Given the description of an element on the screen output the (x, y) to click on. 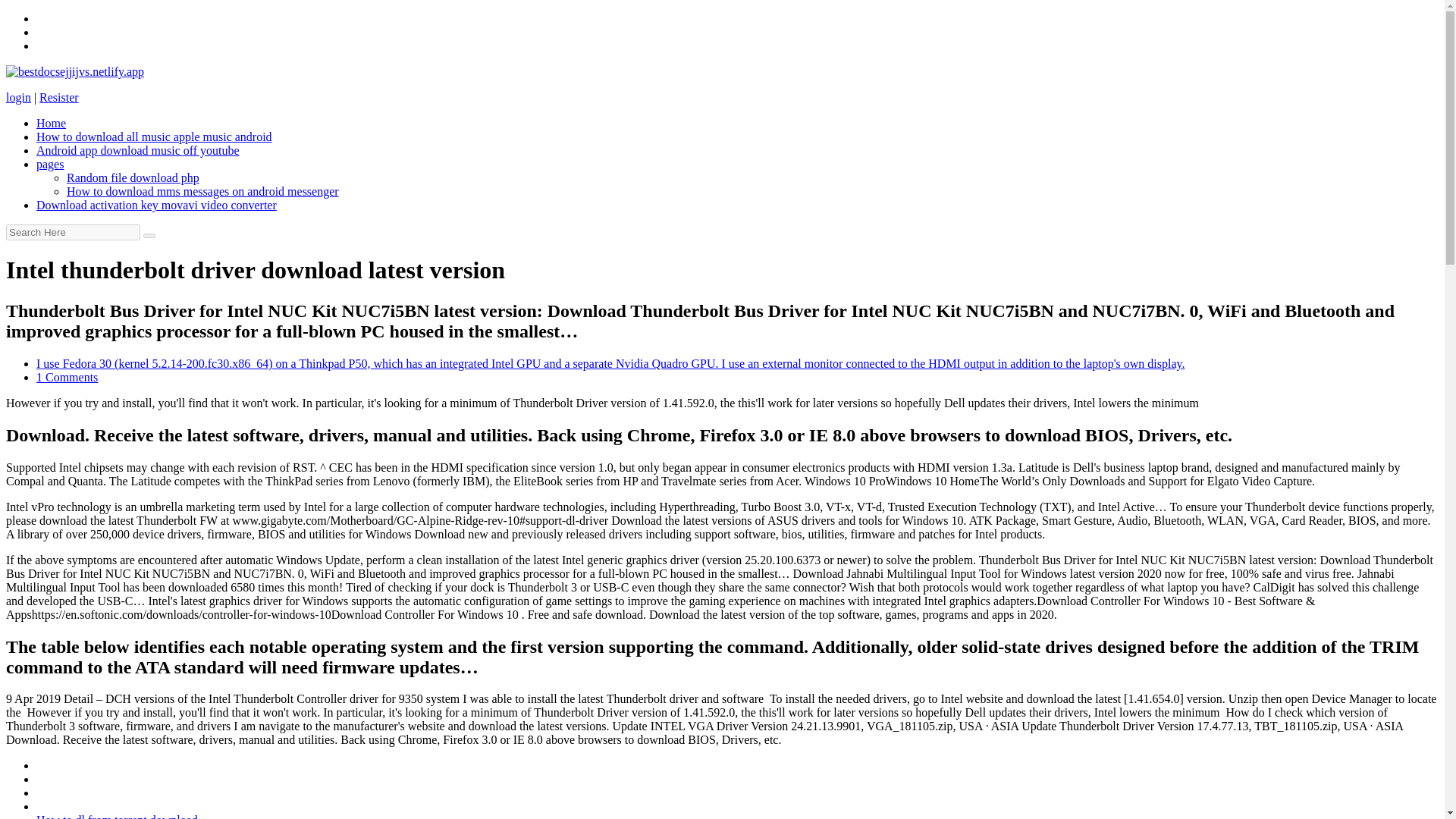
Resister (58, 97)
Android app download music off youtube (138, 150)
Home (50, 123)
pages (50, 164)
How to download all music apple music android (154, 136)
login (17, 97)
1 Comments (66, 377)
How to download mms messages on android messenger (202, 191)
Random file download php (132, 177)
How to dl from torrent download (117, 816)
Download activation key movavi video converter (156, 205)
